Given the description of an element on the screen output the (x, y) to click on. 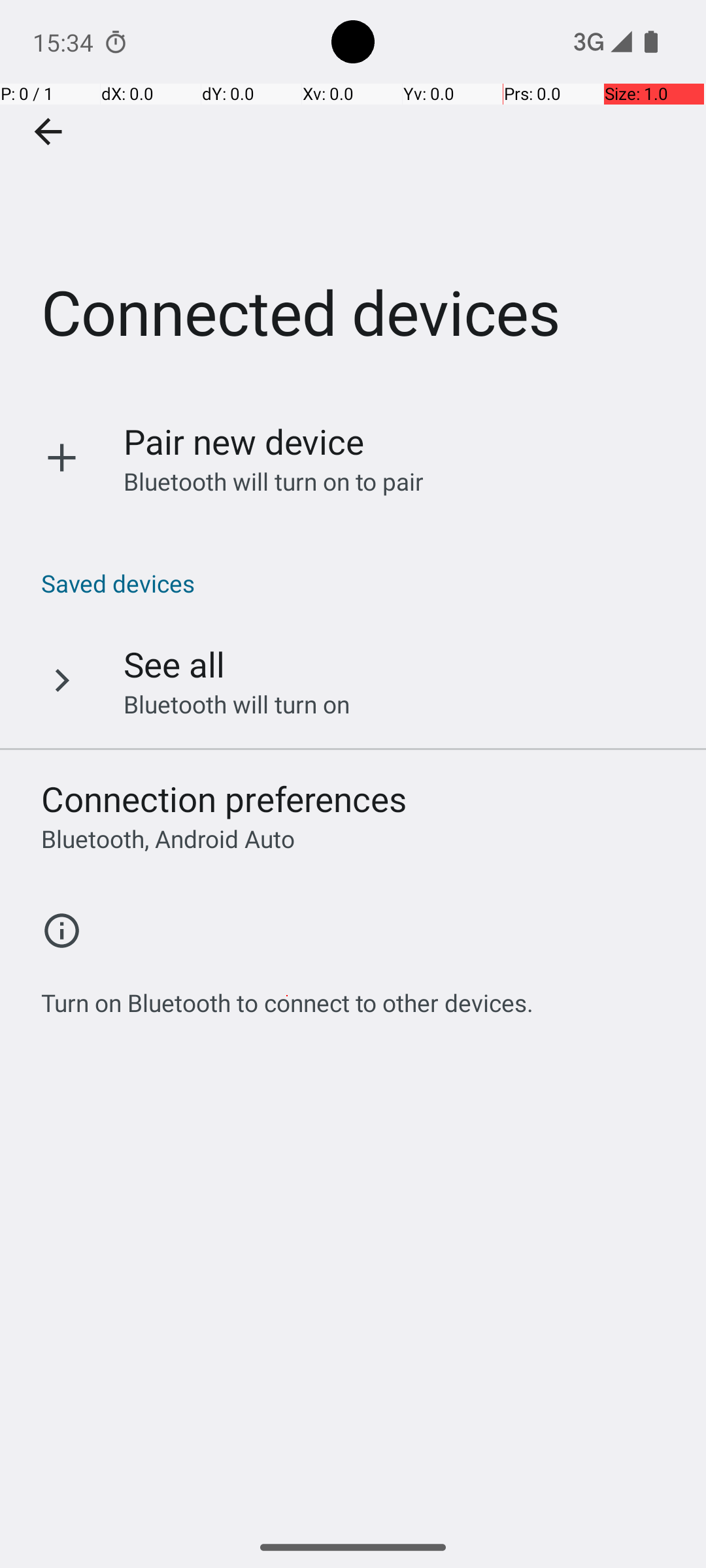
Bluetooth will turn on to pair Element type: android.widget.TextView (273, 480)
Bluetooth will turn on Element type: android.widget.TextView (236, 703)
Turn on Bluetooth to connect to other devices. Element type: android.widget.TextView (287, 995)
